Given the description of an element on the screen output the (x, y) to click on. 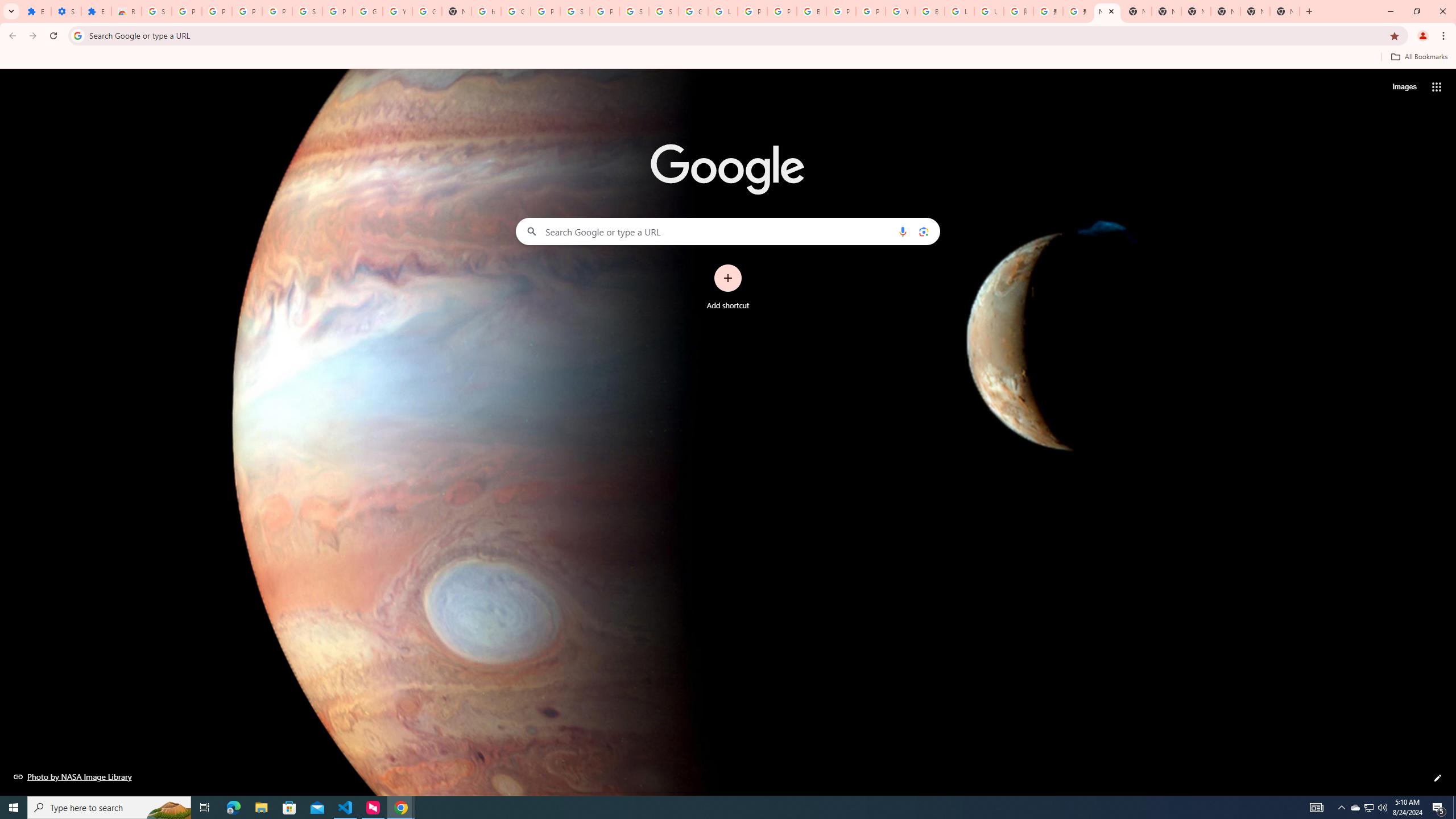
Reviews: Helix Fruit Jump Arcade Game (126, 11)
Photo by NASA Image Library (72, 776)
Customize this page (1437, 778)
Google Account (367, 11)
New Tab (1284, 11)
YouTube (900, 11)
